Given the description of an element on the screen output the (x, y) to click on. 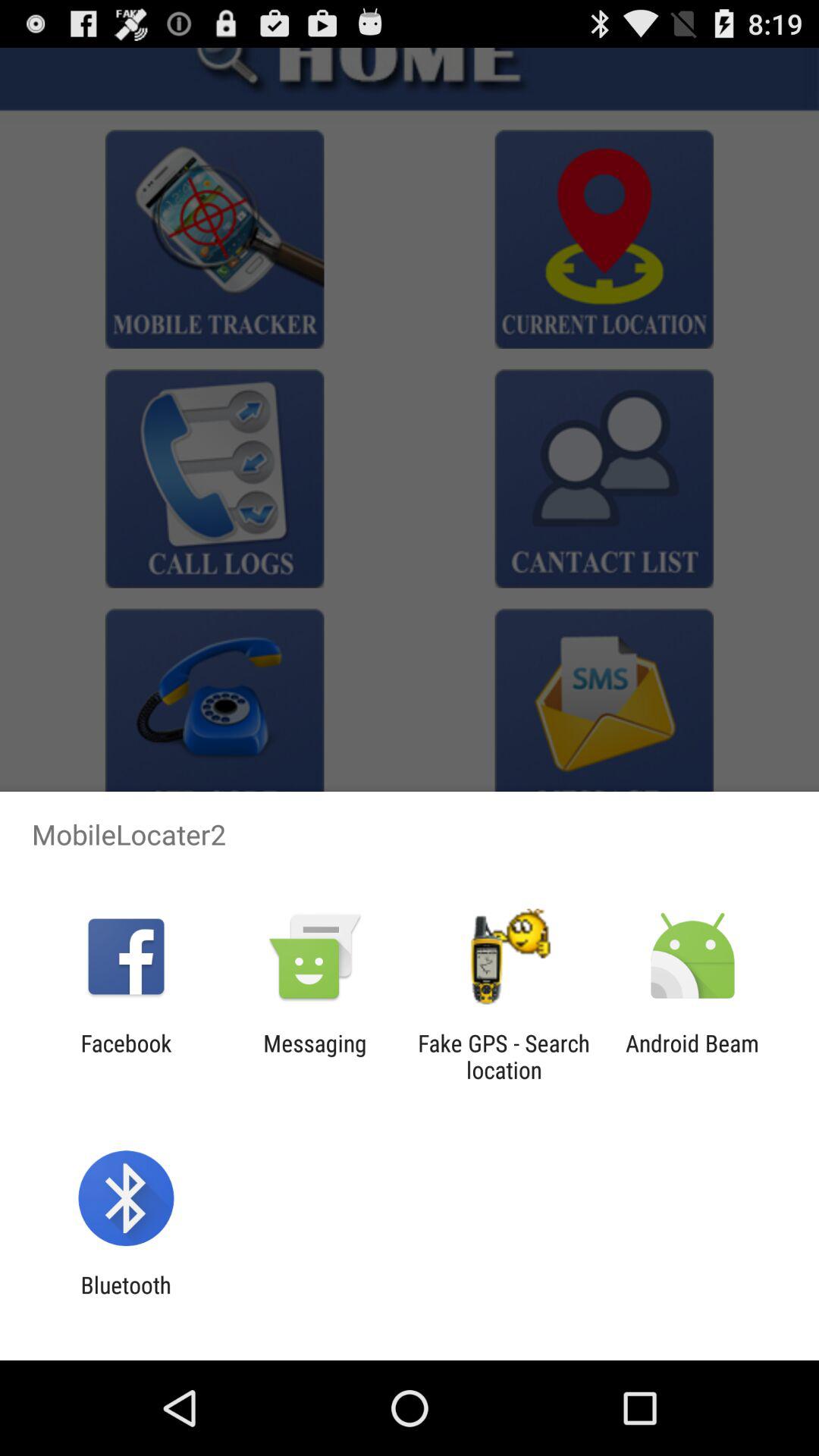
swipe to the bluetooth (125, 1298)
